Given the description of an element on the screen output the (x, y) to click on. 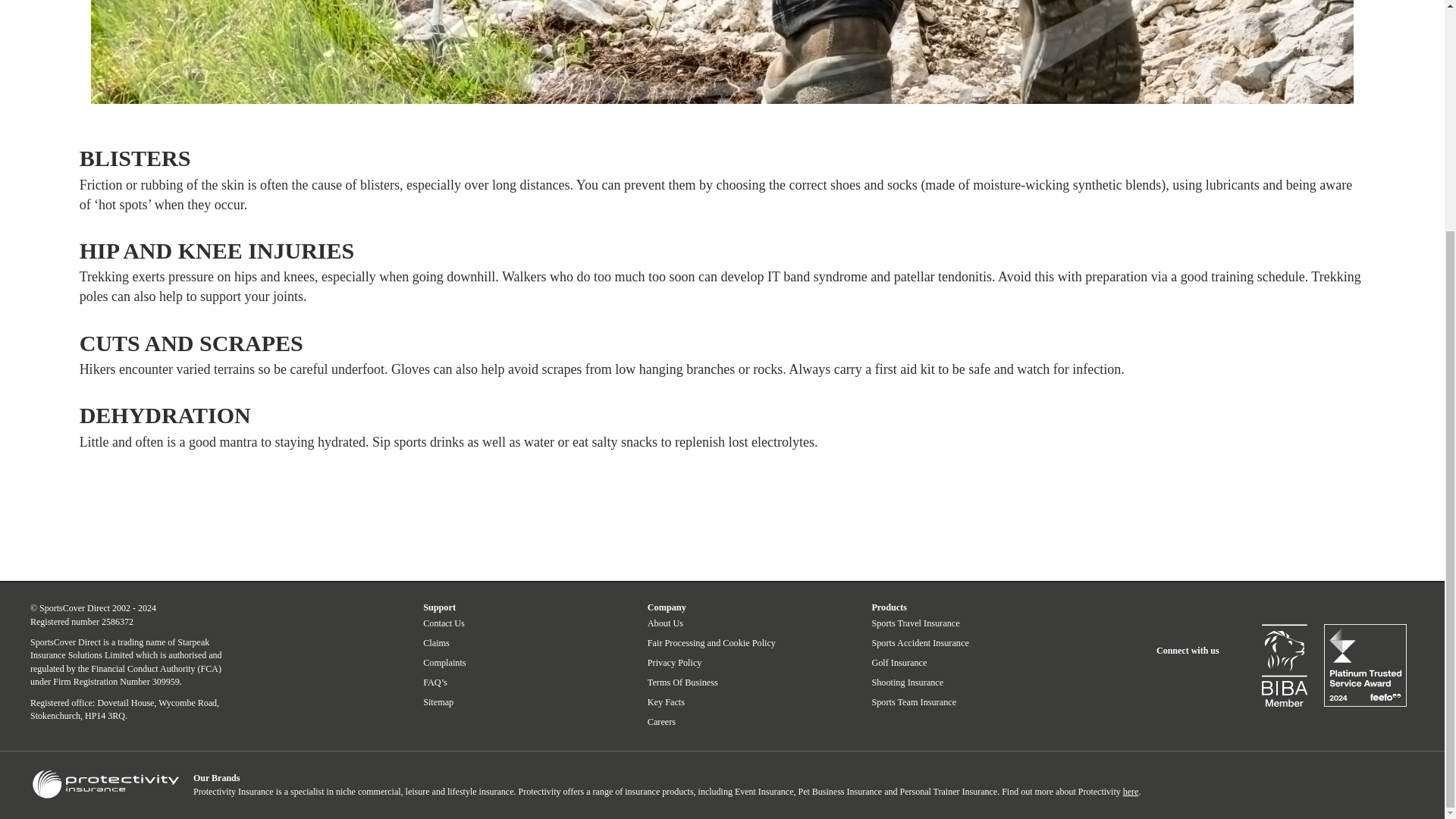
Support (439, 606)
Company (666, 606)
Complaints (444, 662)
Key Facts (665, 701)
Contact Us (443, 623)
Privacy Policy (674, 662)
Fair Processing and Cookie Policy (711, 643)
Claims (436, 643)
Terms Of Business (682, 682)
Sitemap (437, 701)
